Given the description of an element on the screen output the (x, y) to click on. 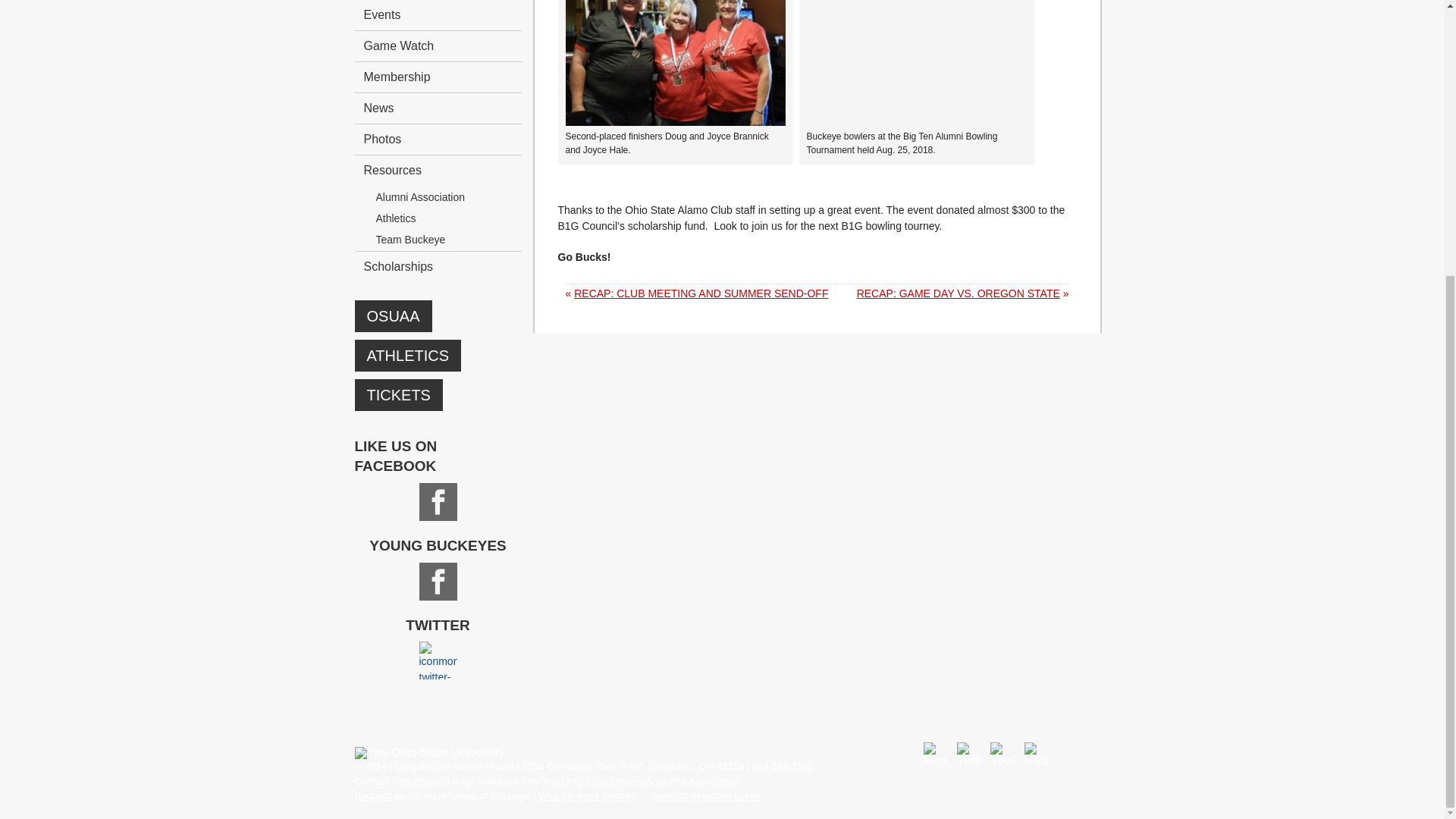
TICKETS (398, 395)
Photos (438, 138)
Events (438, 15)
ATHLETICS (408, 355)
Team Buckeye (444, 239)
Game Watch (438, 45)
News (438, 107)
OSUAA (393, 316)
Resources (438, 169)
Membership (438, 76)
The Ohio State University home page (430, 752)
Alumni Association (444, 197)
Scholarships (438, 265)
Athletics (444, 218)
